Given the description of an element on the screen output the (x, y) to click on. 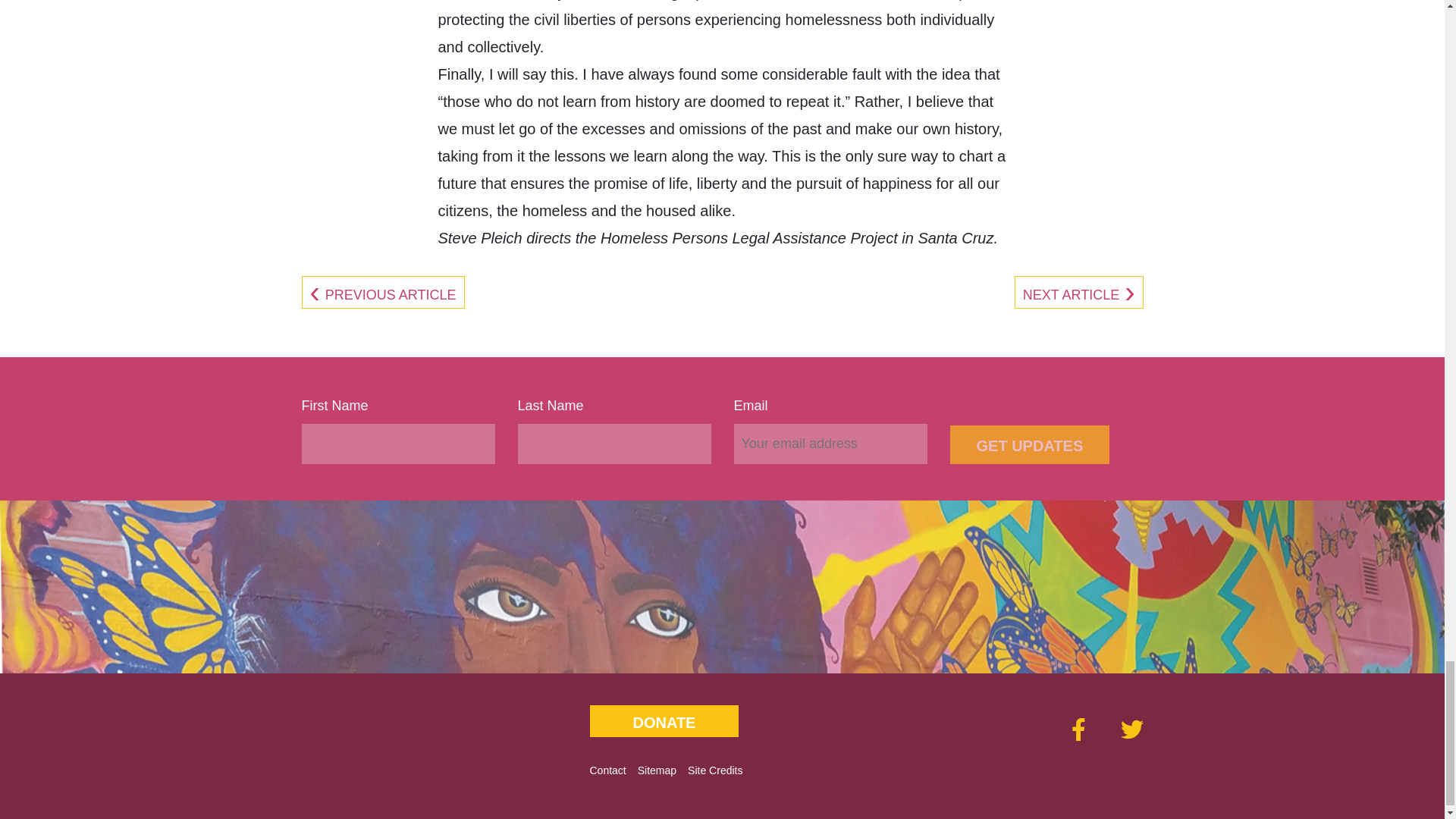
Get Updates (1029, 444)
PREVIOUS ARTICLE (381, 294)
NEXT ARTICLE (1079, 294)
Get Updates (1029, 444)
